Given the description of an element on the screen output the (x, y) to click on. 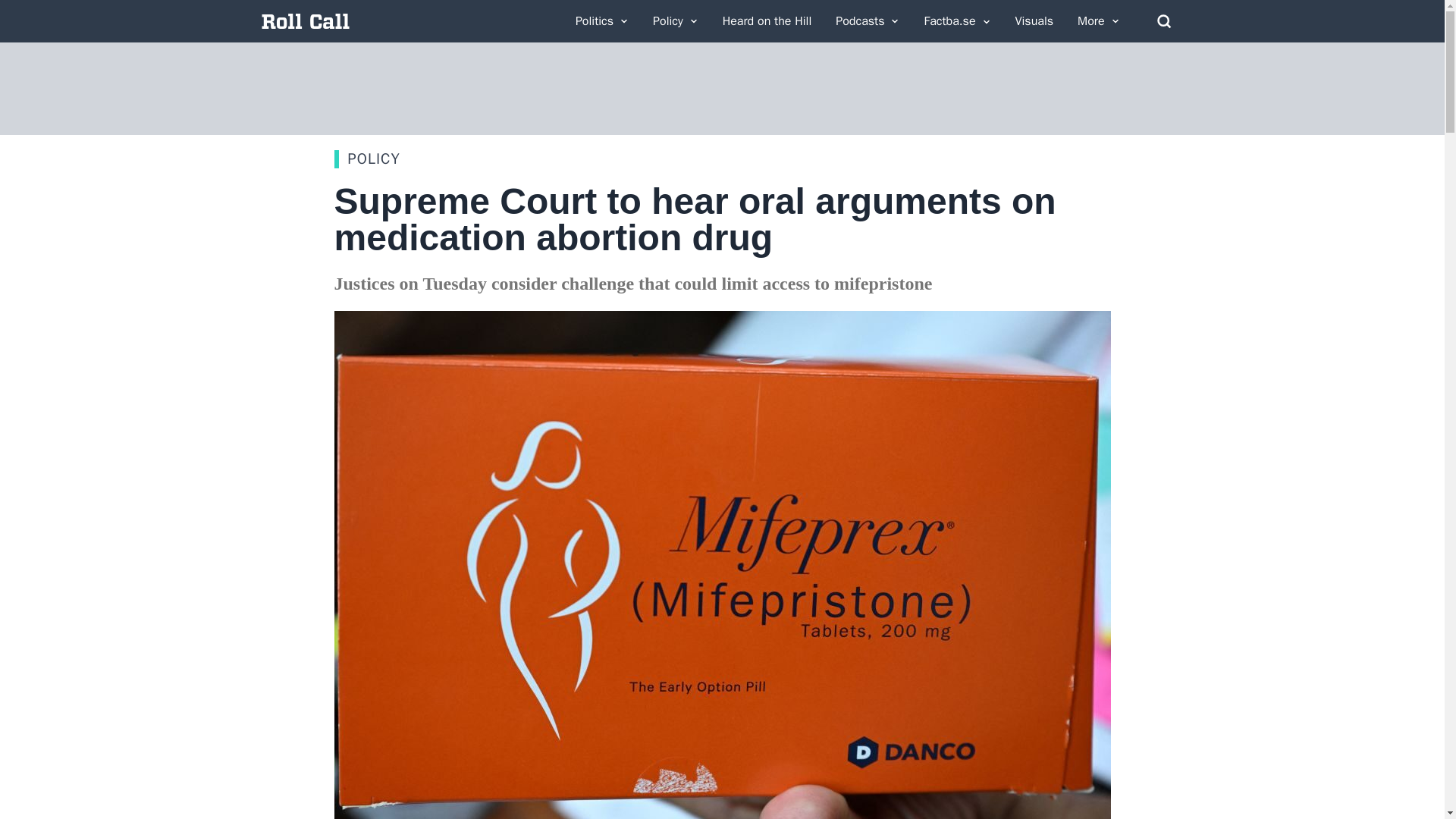
3rd party ad content (721, 88)
